Given the description of an element on the screen output the (x, y) to click on. 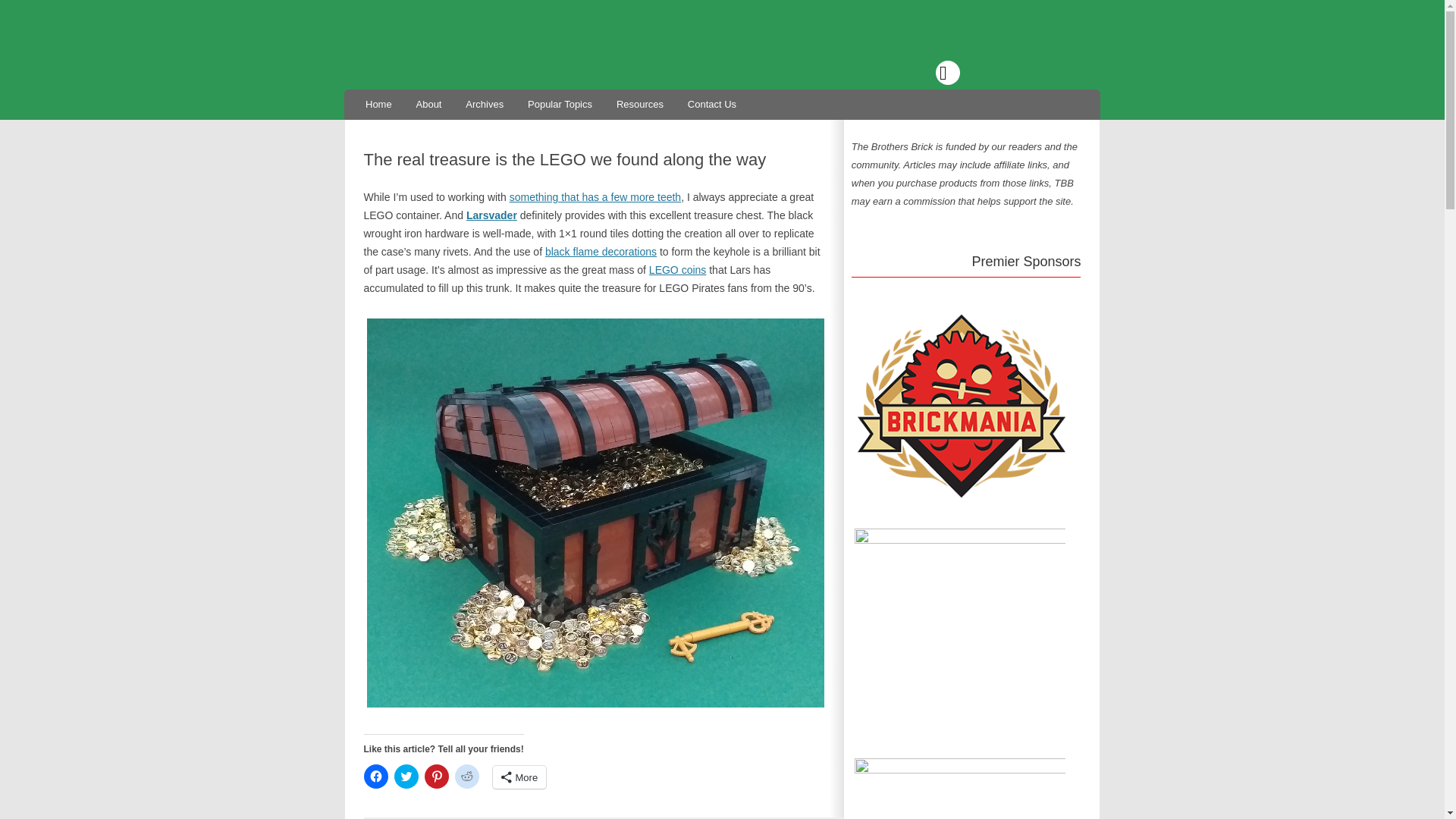
Instagram (947, 72)
Click to share on Twitter (406, 776)
Twitter (914, 72)
Twitter (914, 72)
Popular Topics (559, 103)
Pinterest (1047, 72)
YouTube (1014, 72)
RSS (1080, 72)
Flickr (980, 72)
Flickr (980, 72)
LEGO Resources (639, 103)
Pinterest (1047, 72)
RSS (1080, 72)
Facebook (881, 72)
Facebook (881, 72)
